Given the description of an element on the screen output the (x, y) to click on. 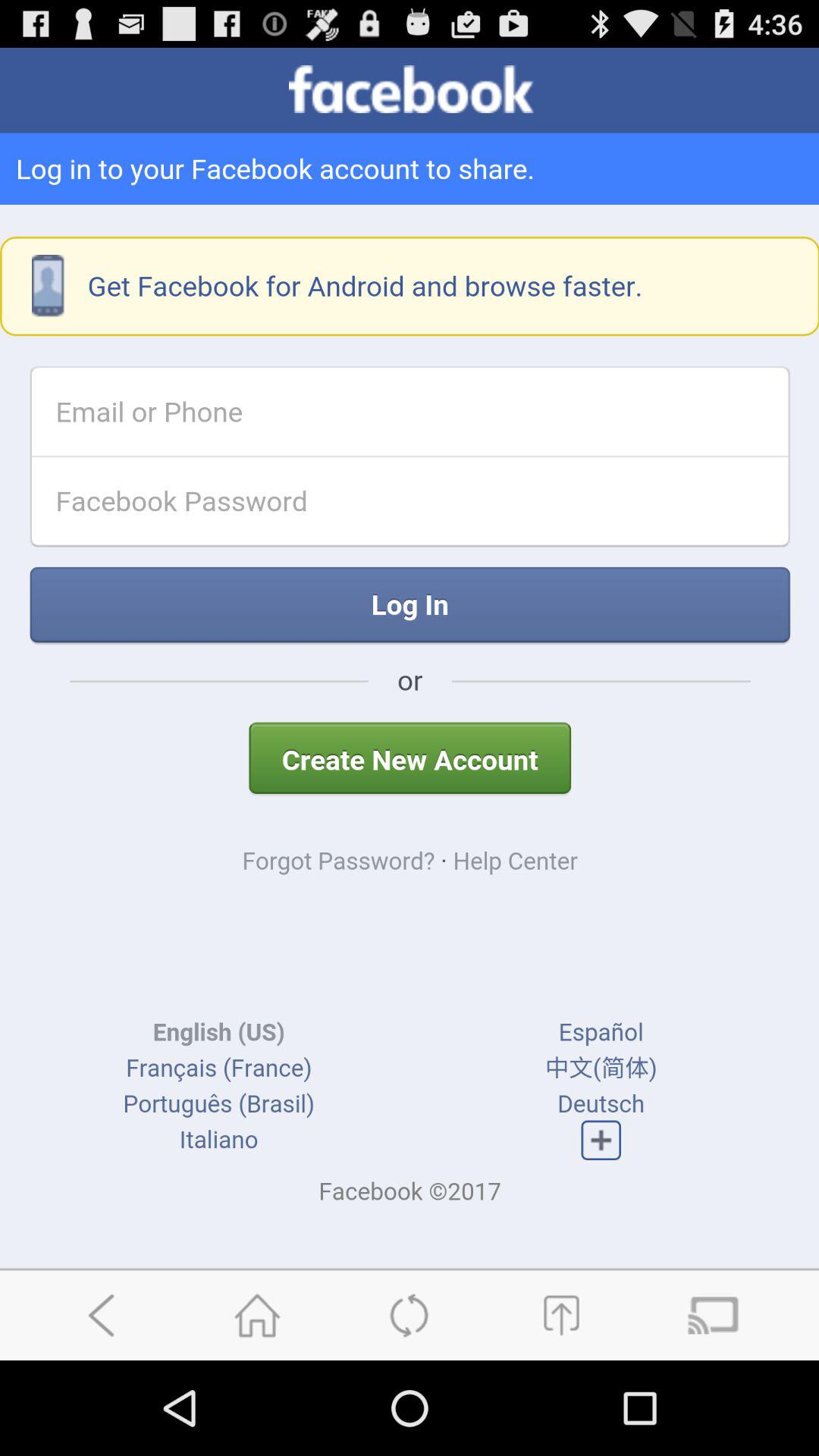
share (561, 1315)
